Given the description of an element on the screen output the (x, y) to click on. 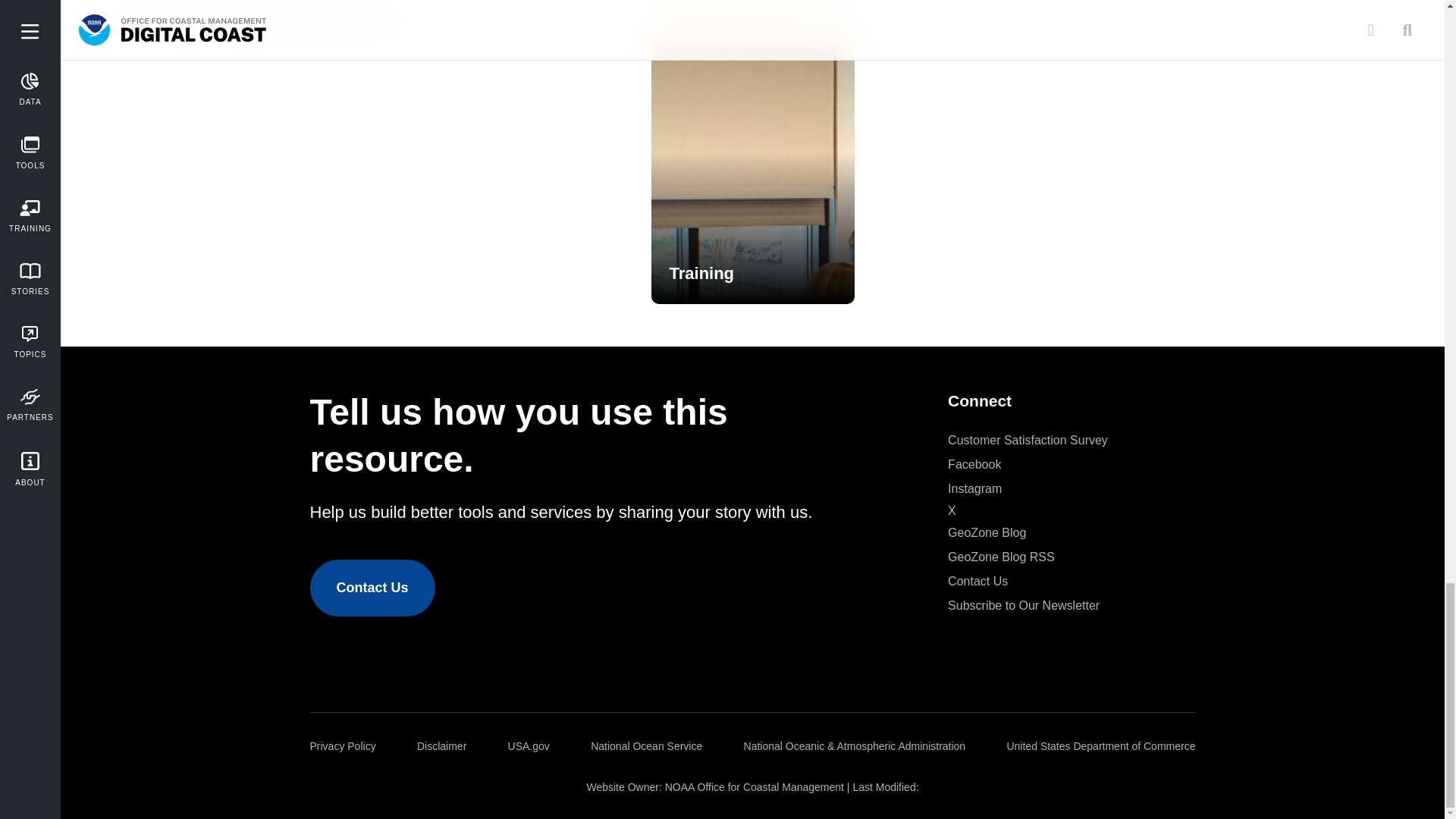
Customer Satisfaction Survey (1027, 440)
Customer Satisfaction Survey (1027, 440)
Facebook (974, 464)
Contact Us (370, 587)
X (951, 510)
Instagram (974, 488)
NOAA Office for Coastal Management on Facebook (974, 464)
